Given the description of an element on the screen output the (x, y) to click on. 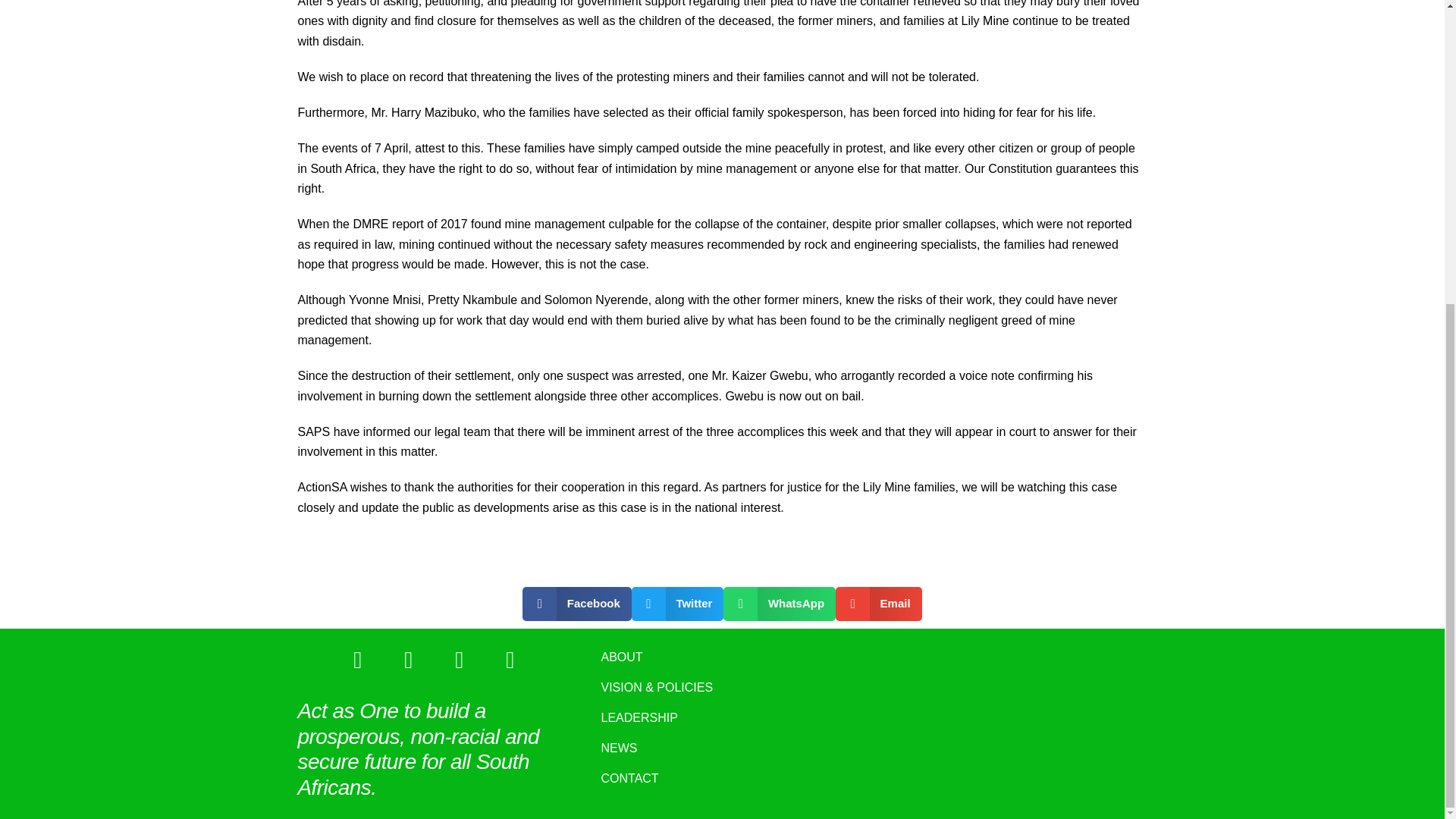
NEWS (722, 748)
ABOUT (722, 657)
LEADERSHIP (722, 717)
CONTACT (722, 778)
